Given the description of an element on the screen output the (x, y) to click on. 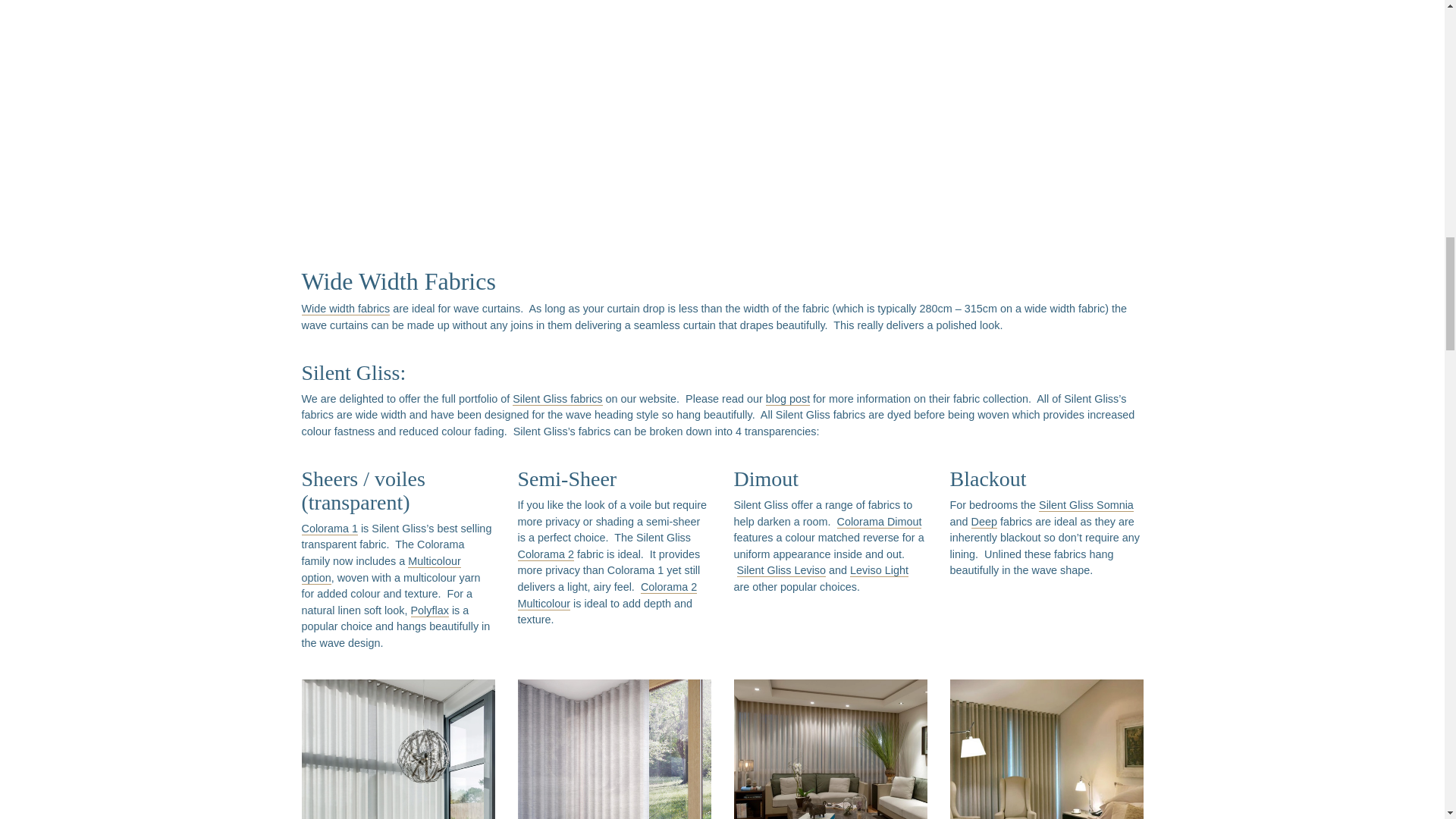
Fabric suitability for wave curtains (544, 117)
